Given the description of an element on the screen output the (x, y) to click on. 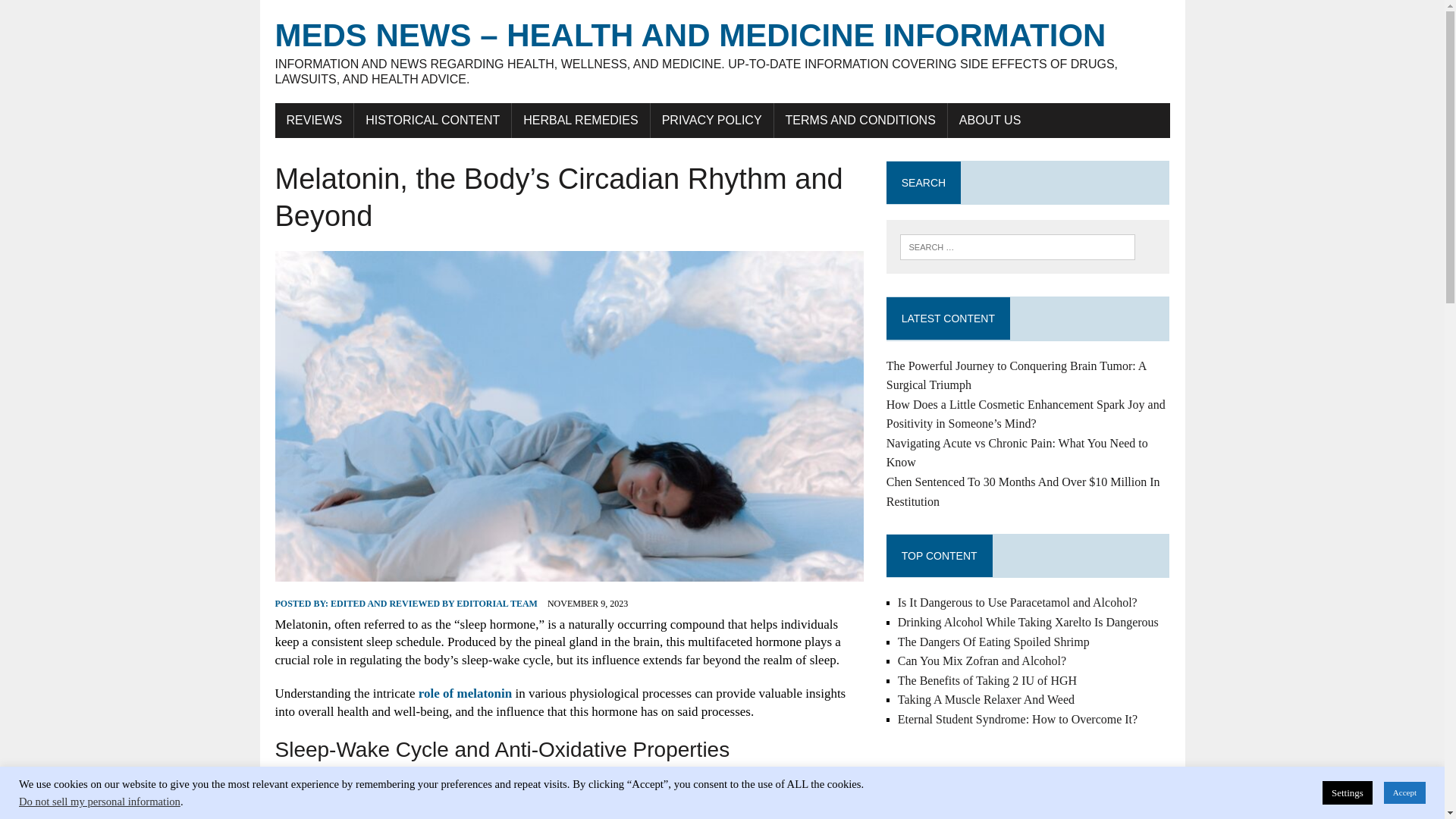
EDITED AND REVIEWED BY EDITORIAL TEAM (433, 603)
role of melatonin (465, 693)
ABOUT US (989, 120)
REVIEWS (314, 120)
HISTORICAL CONTENT (432, 120)
TERMS AND CONDITIONS (860, 120)
sleep-wake cycle (690, 805)
PRIVACY POLICY (711, 120)
HERBAL REMEDIES (580, 120)
